Given the description of an element on the screen output the (x, y) to click on. 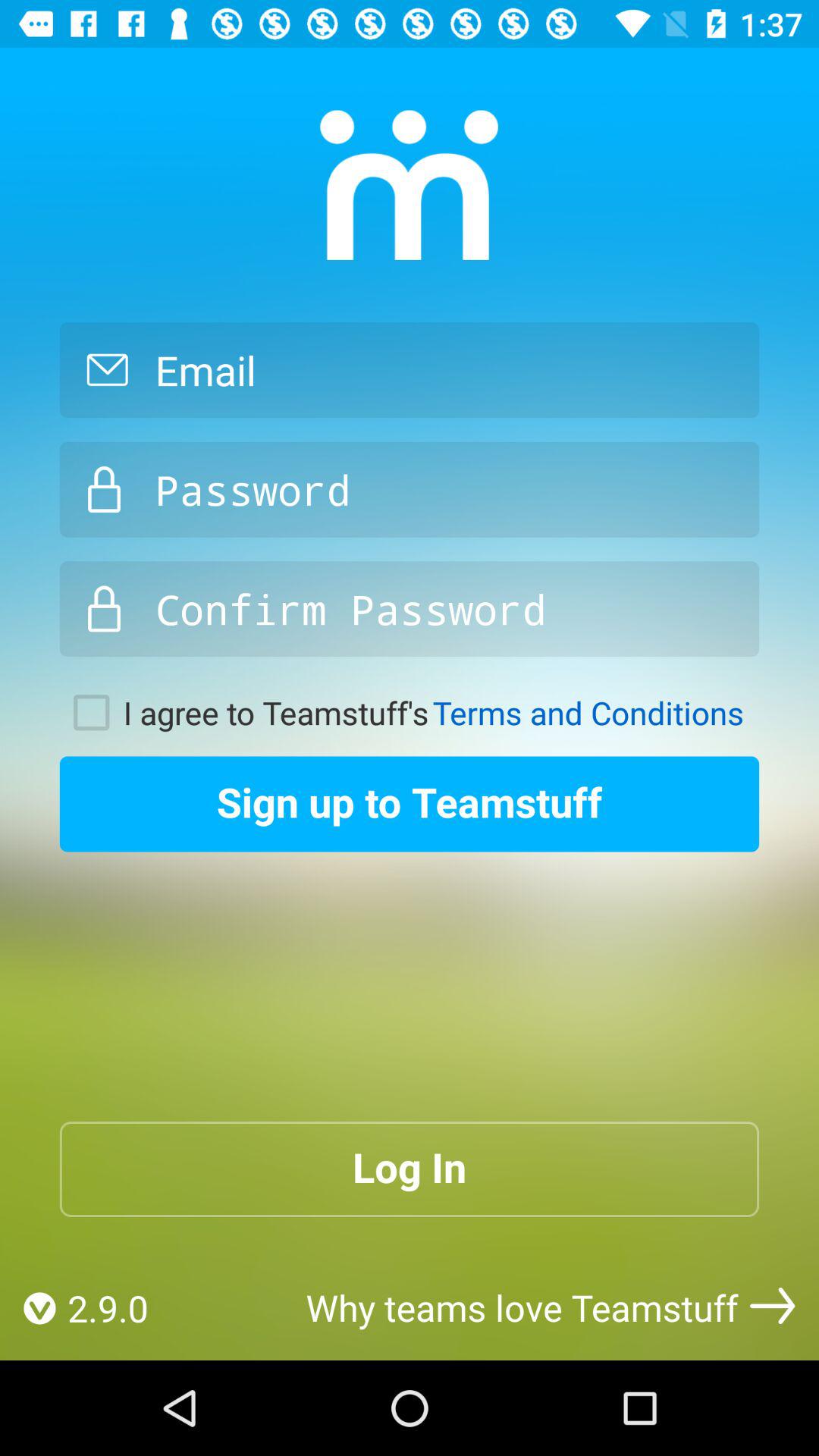
creat mail id (409, 370)
